Given the description of an element on the screen output the (x, y) to click on. 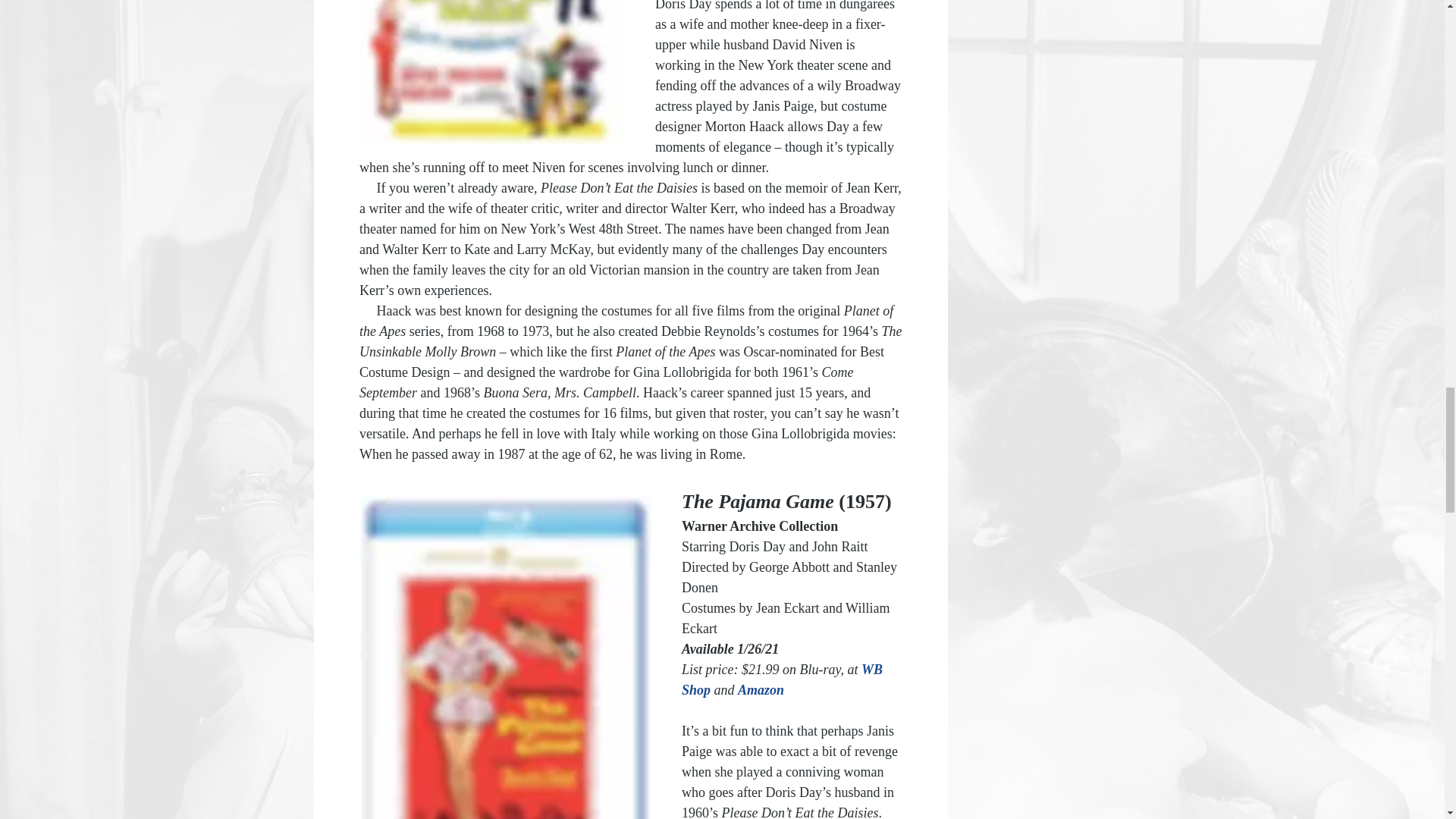
Amazon (761, 689)
WB Shop  (783, 679)
